Given the description of an element on the screen output the (x, y) to click on. 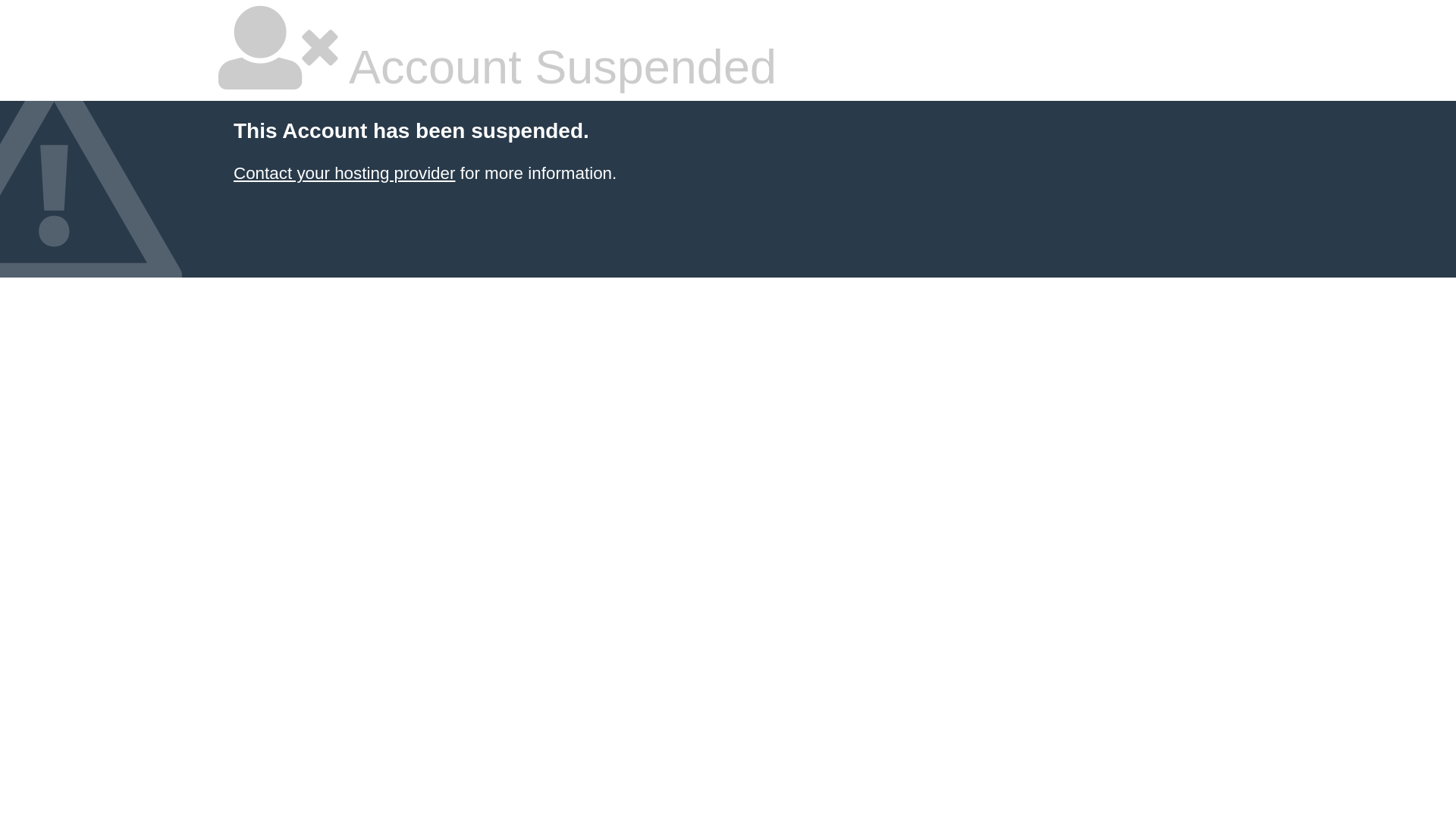
Contact your hosting provider Element type: text (344, 172)
